Given the description of an element on the screen output the (x, y) to click on. 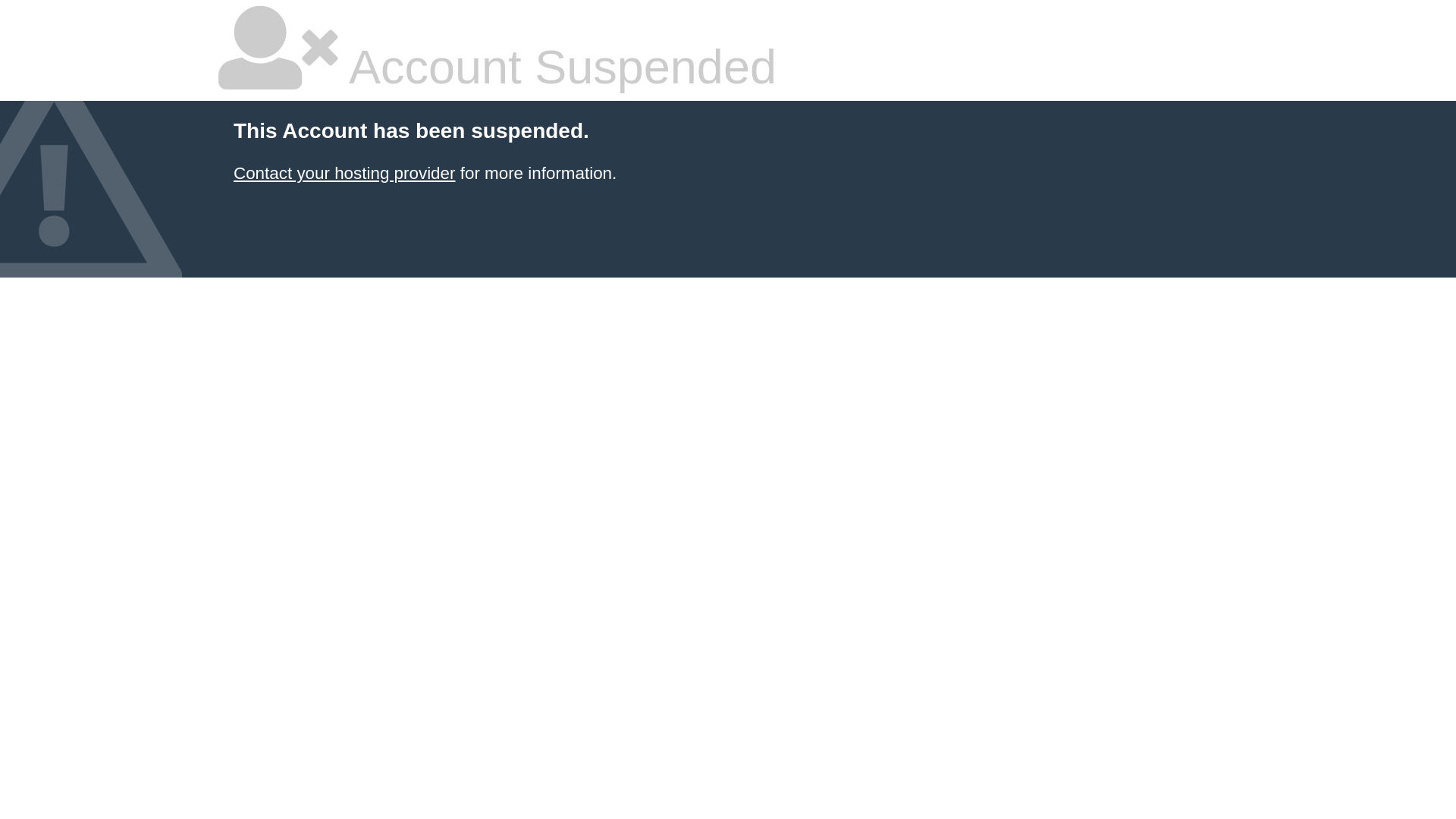
Contact your hosting provider Element type: text (344, 172)
